Given the description of an element on the screen output the (x, y) to click on. 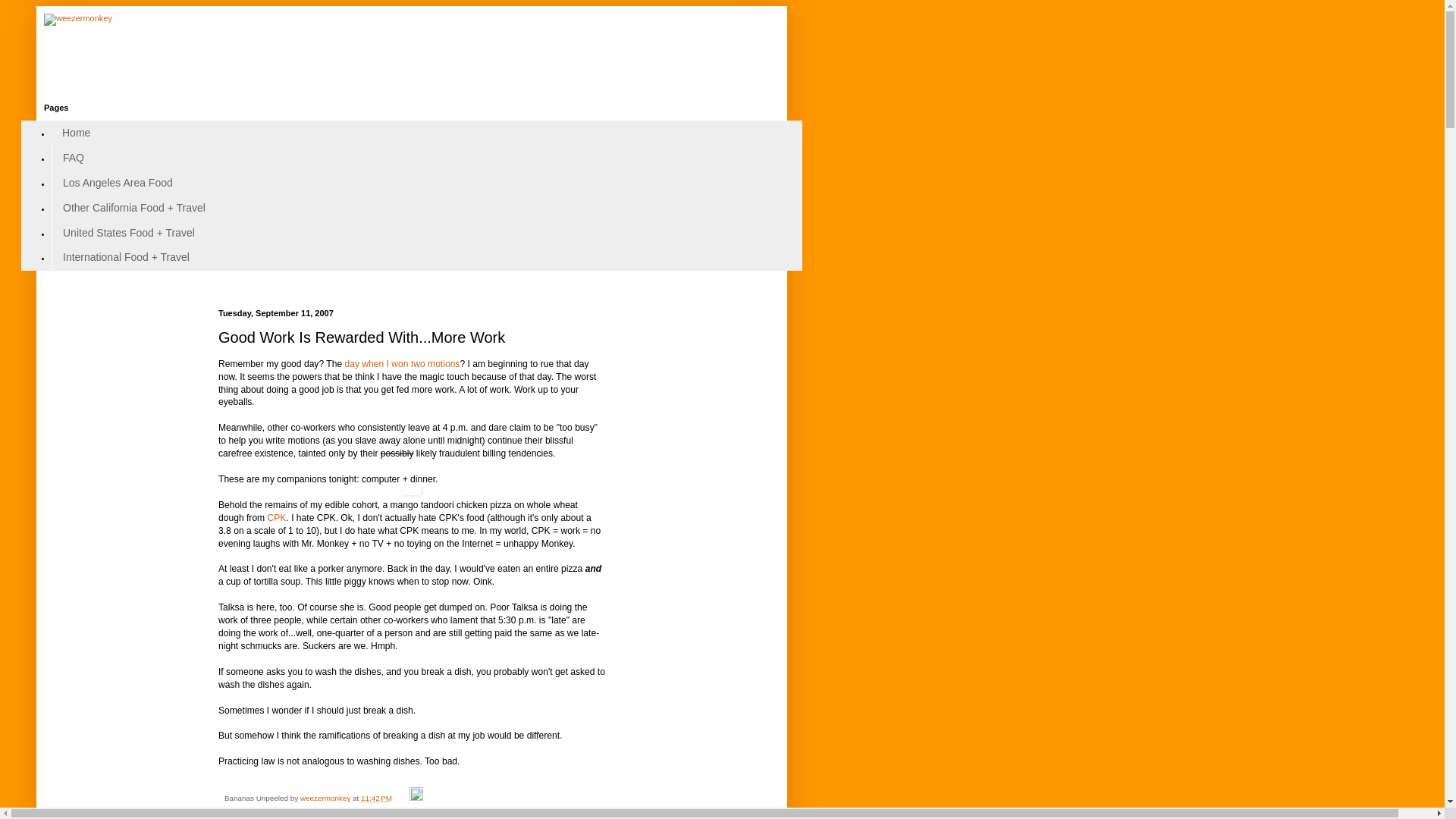
Home (75, 132)
Share to Facebook (374, 809)
day when I won two motions (401, 363)
Email Post (402, 797)
Share to Twitter (315, 809)
Share to Facebook (374, 809)
Los Angeles Area Food (117, 182)
CPK (276, 517)
Email This (241, 809)
Edit Post (416, 797)
BlogThis! (274, 809)
FAQ (73, 157)
author profile (325, 797)
